Given the description of an element on the screen output the (x, y) to click on. 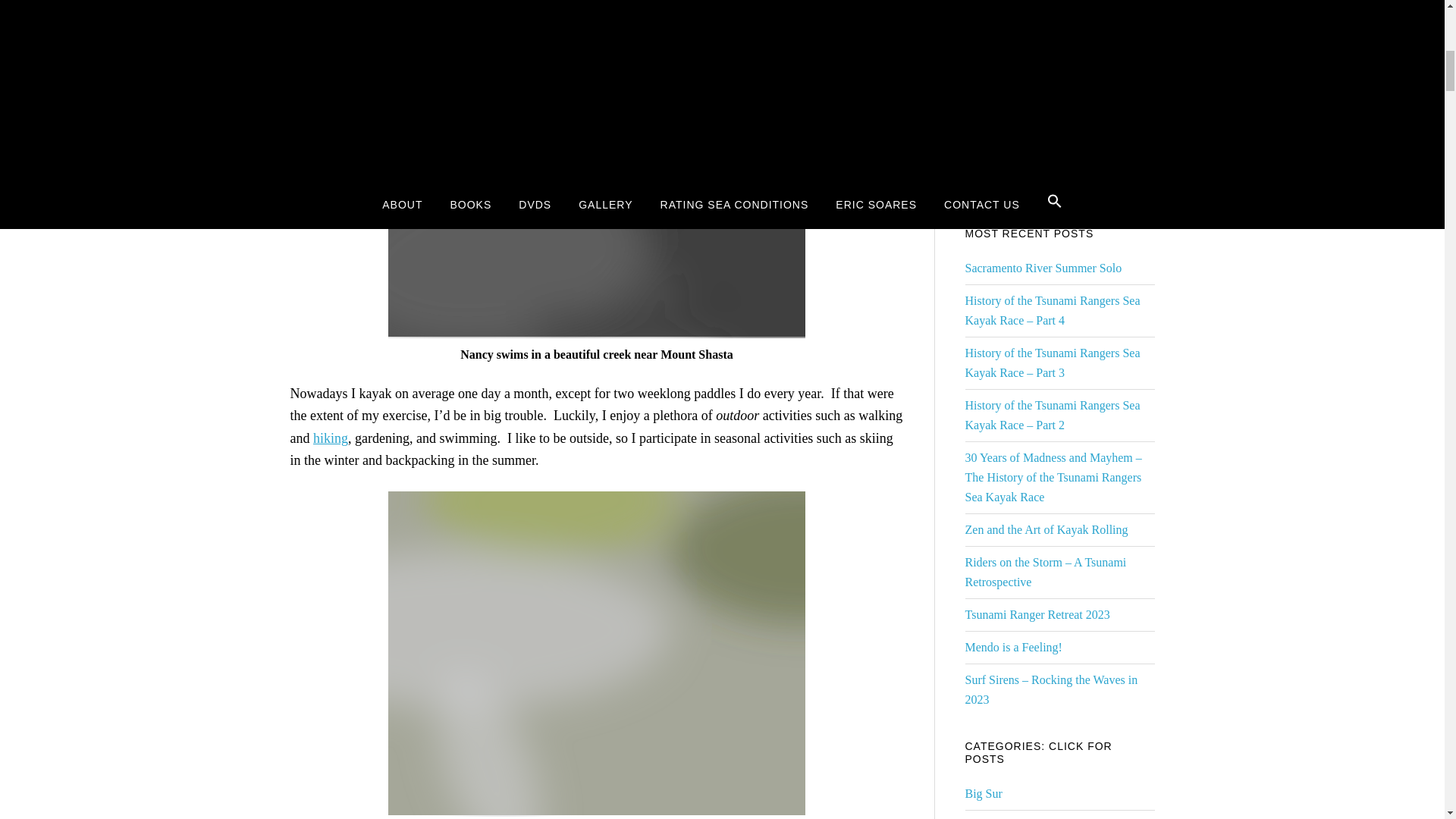
hiking (330, 437)
Swimming in Mears Creek (596, 221)
